Given the description of an element on the screen output the (x, y) to click on. 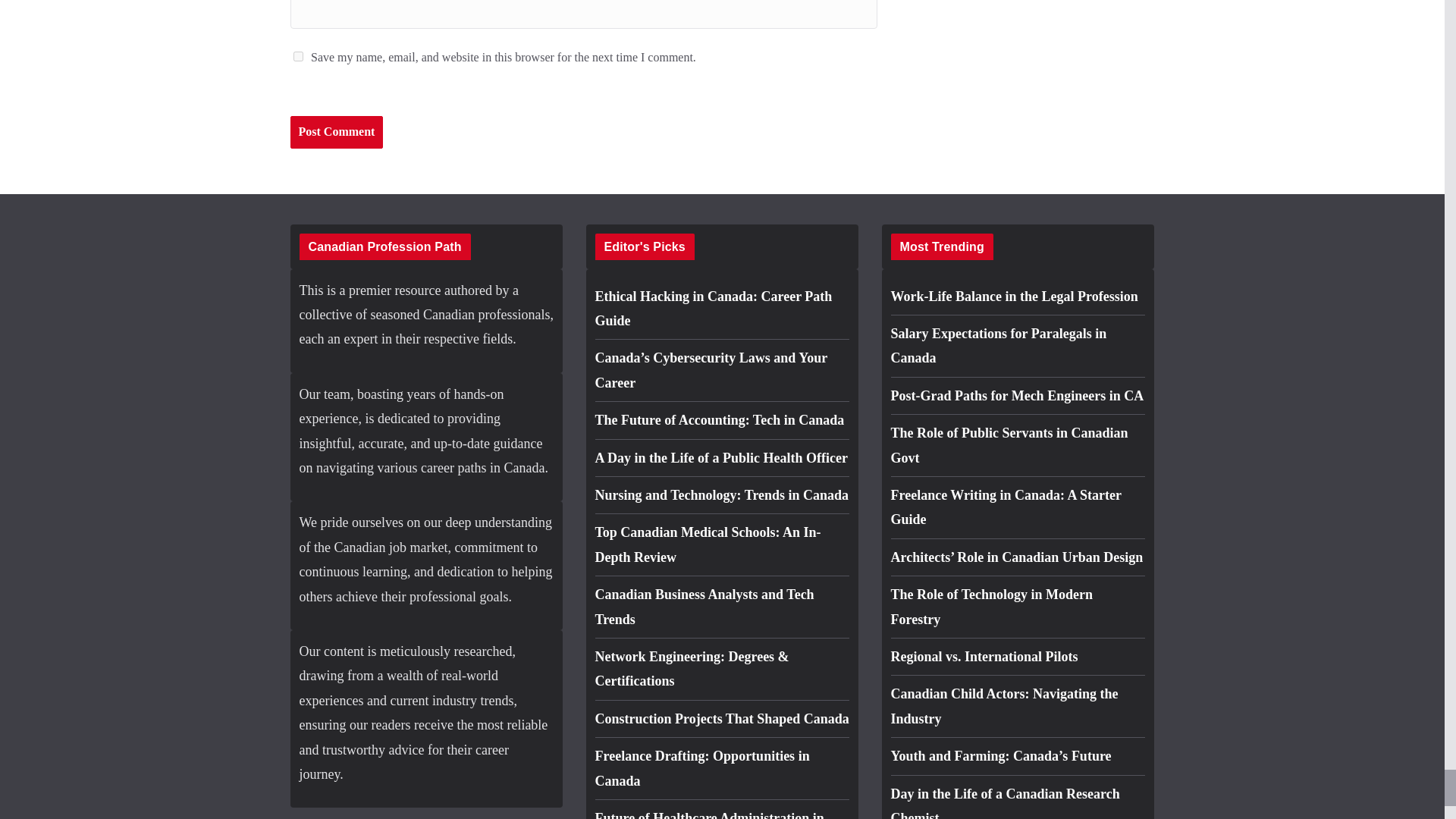
yes (297, 56)
Post Comment (335, 132)
